Given the description of an element on the screen output the (x, y) to click on. 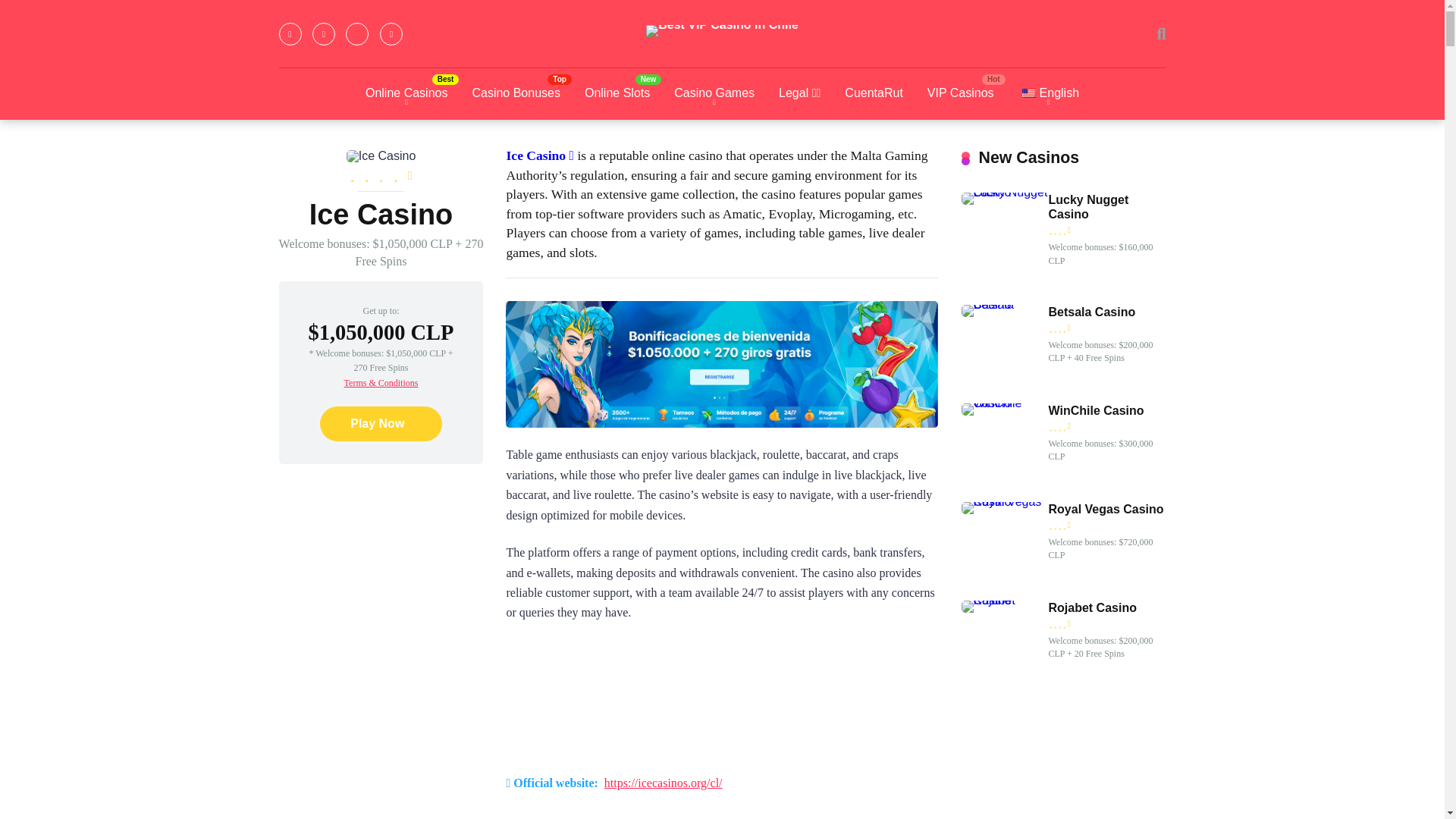
English (1048, 93)
Online Casinos (406, 93)
YouTube (357, 33)
Best VIP Casino in Chile (721, 30)
CuentaRut (873, 93)
Facebook (290, 33)
Play Now (381, 423)
Instagram (391, 33)
VIP Casinos (960, 93)
English (1028, 92)
